Given the description of an element on the screen output the (x, y) to click on. 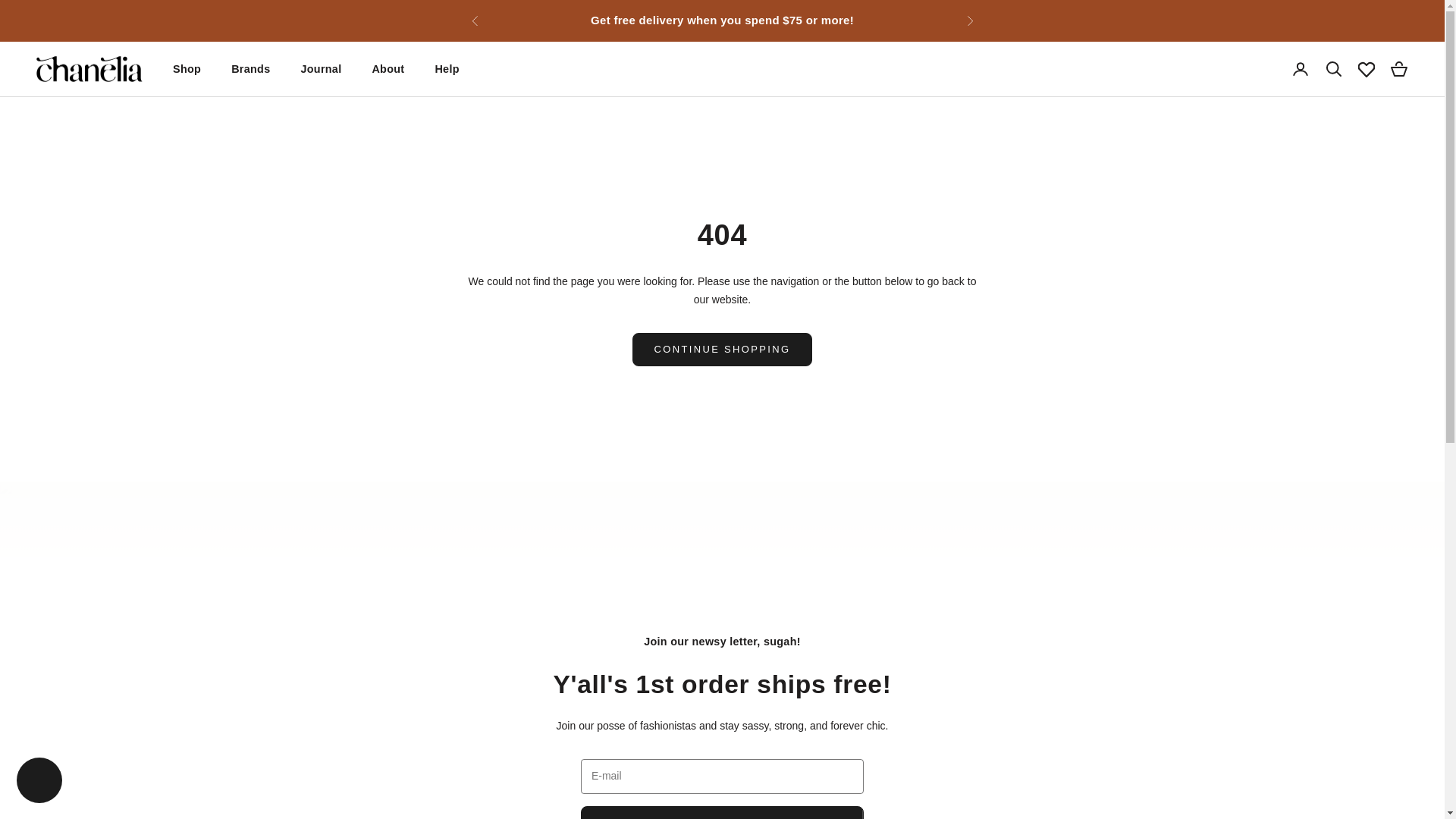
Open cart (1398, 68)
SUBSCRIBE (721, 812)
CONTINUE SHOPPING (721, 349)
Shopify online store chat (38, 781)
Journal (319, 68)
About (387, 68)
Brands (250, 68)
CHANELIA (89, 69)
Open search (1333, 68)
Wishlist (1366, 68)
